Given the description of an element on the screen output the (x, y) to click on. 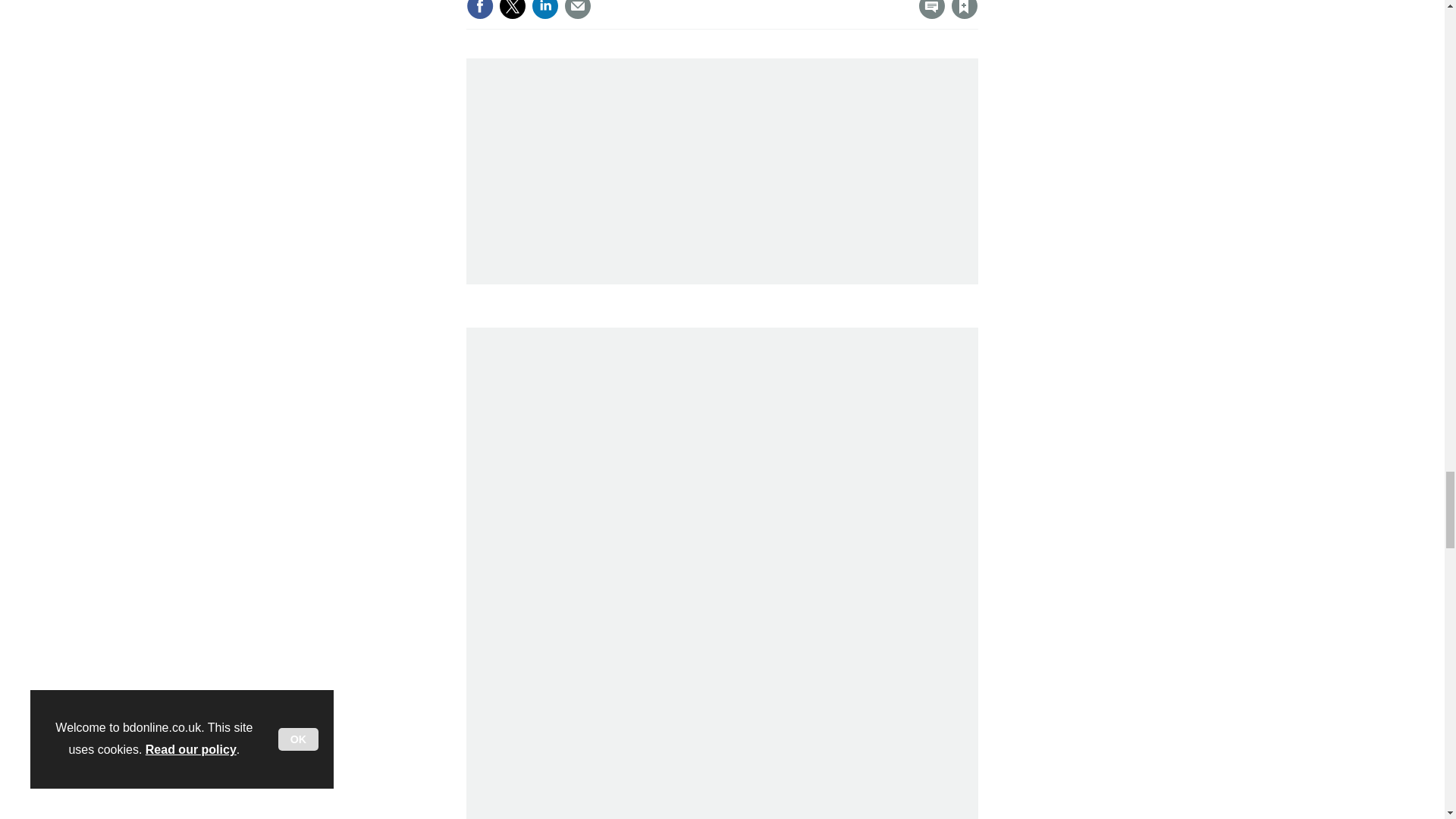
Share this on Twitter (512, 9)
3rd party ad content (583, 163)
Share this on Facebook (479, 9)
Share this on Linked in (545, 9)
No comments (926, 14)
Email this article (577, 9)
